Given the description of an element on the screen output the (x, y) to click on. 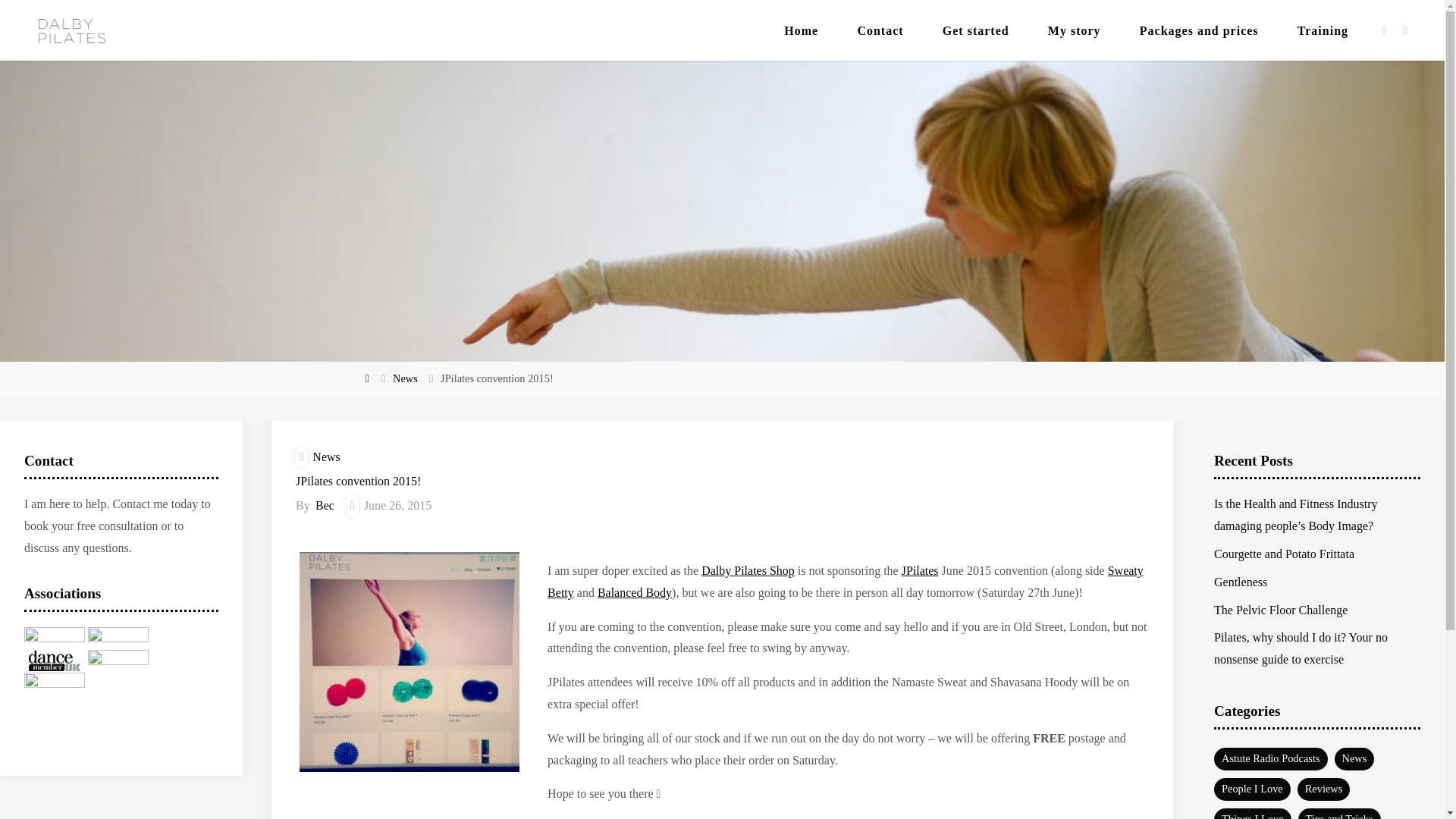
Date (353, 504)
Sweaty Betty (844, 581)
Get started (975, 30)
JPilates (920, 570)
Home (801, 30)
Dalby Pilates Shop (747, 570)
View all posts by Bec (323, 504)
Dalby Pilates (158, 57)
Packages and prices (1198, 30)
Pilates and Hypopressives Teacher (158, 57)
